Given the description of an element on the screen output the (x, y) to click on. 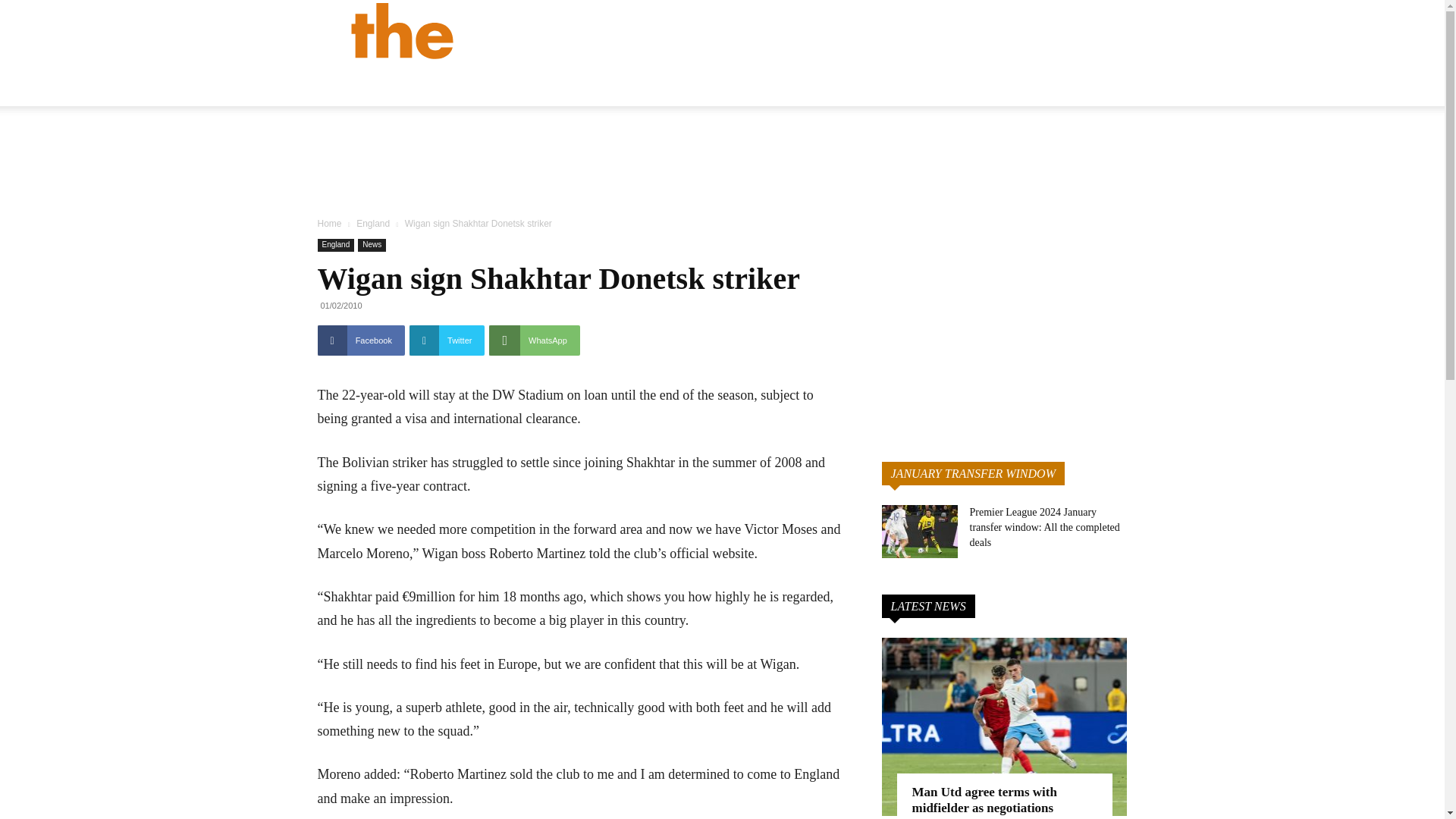
Search (1134, 102)
BETTING (982, 86)
FOOTBALL PODCASTS (1099, 86)
WhatsApp (534, 340)
News (371, 245)
View all posts in England (373, 223)
Twitter (446, 340)
WhatsApp (534, 340)
OPINION (822, 86)
Facebook (360, 340)
Facebook (360, 340)
Home (328, 223)
FEATURES (902, 86)
England (335, 245)
Ontheminute.com (550, 30)
